Given the description of an element on the screen output the (x, y) to click on. 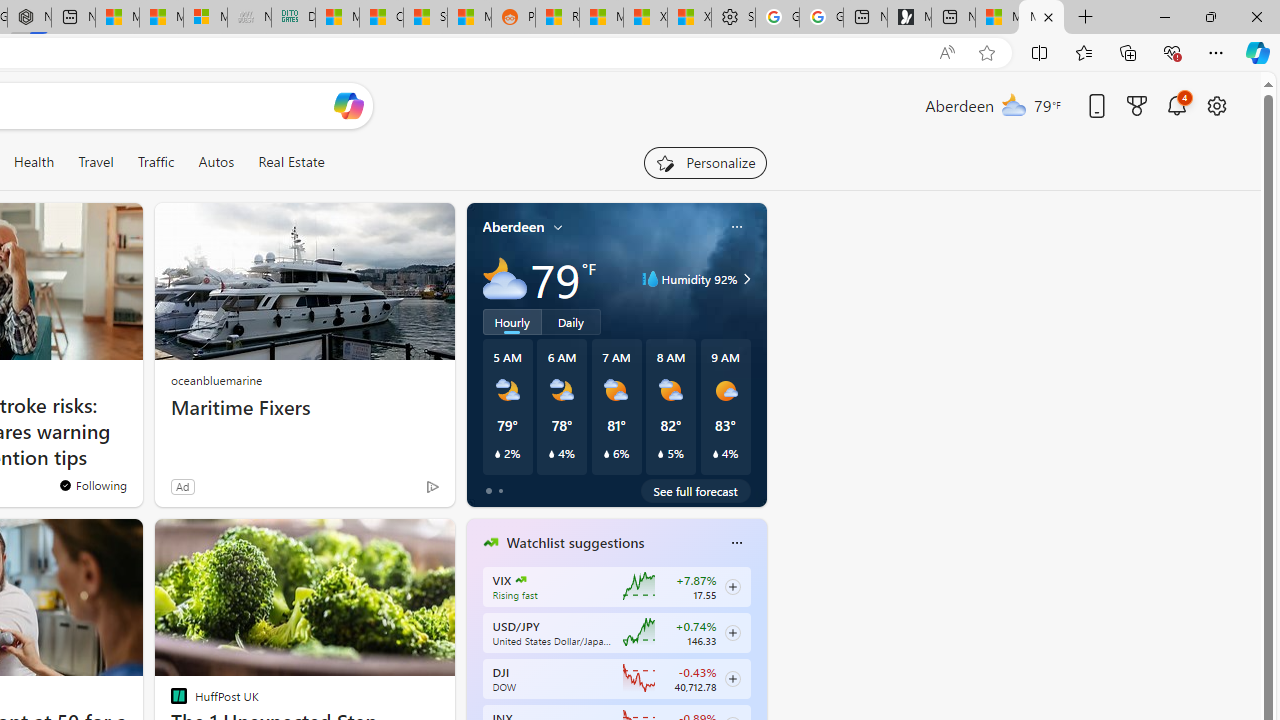
R******* | Trusted Community Engagement and Contributions (557, 17)
Autos (215, 161)
Hide this story (393, 542)
next (756, 670)
tab-0 (488, 490)
Class: weather-arrow-glyph (746, 278)
Real Estate (290, 162)
